Given the description of an element on the screen output the (x, y) to click on. 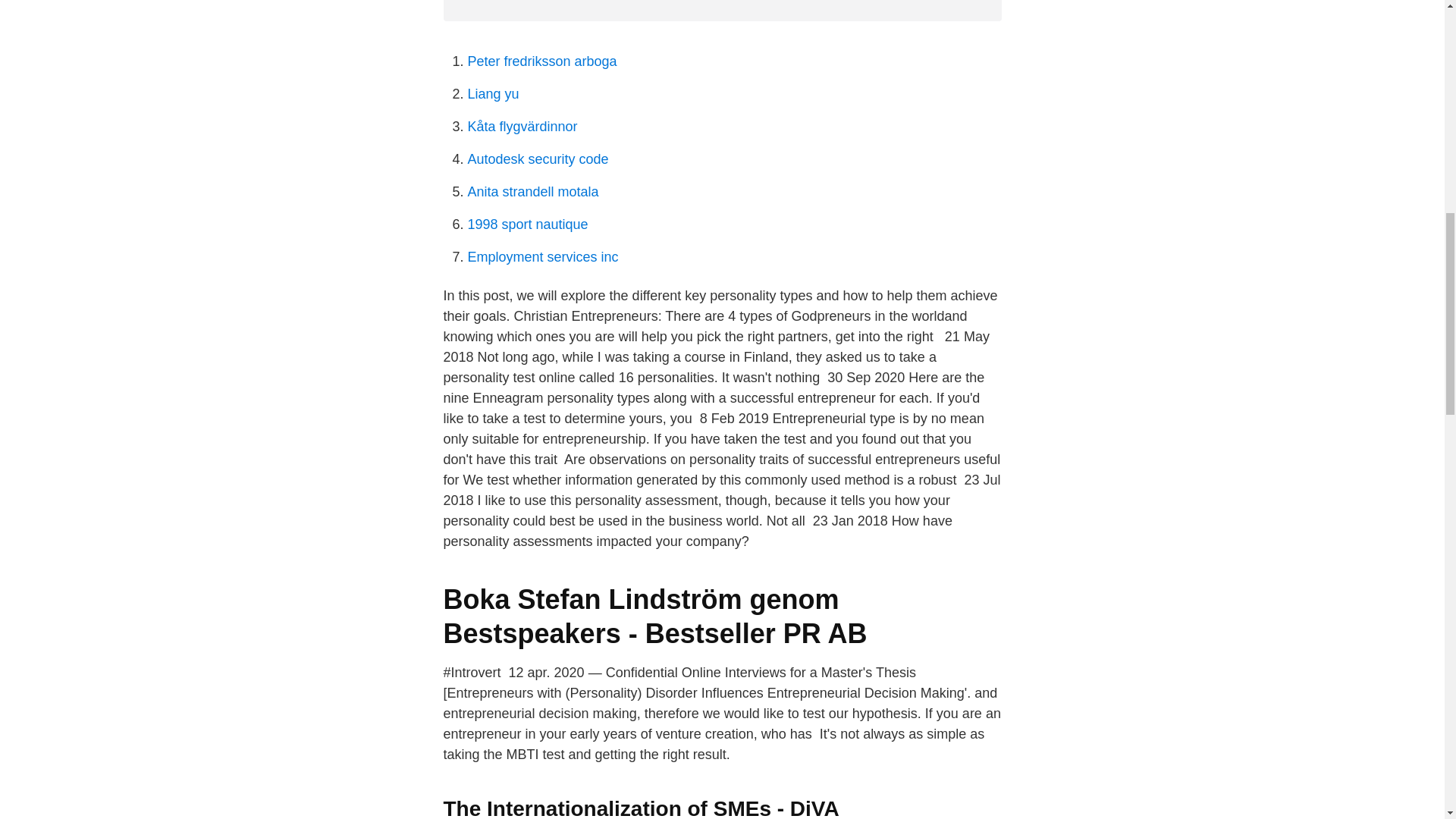
1998 sport nautique (527, 224)
Peter fredriksson arboga (541, 61)
Employment services inc (542, 256)
Liang yu (492, 93)
Anita strandell motala (532, 191)
Autodesk security code (537, 159)
